Given the description of an element on the screen output the (x, y) to click on. 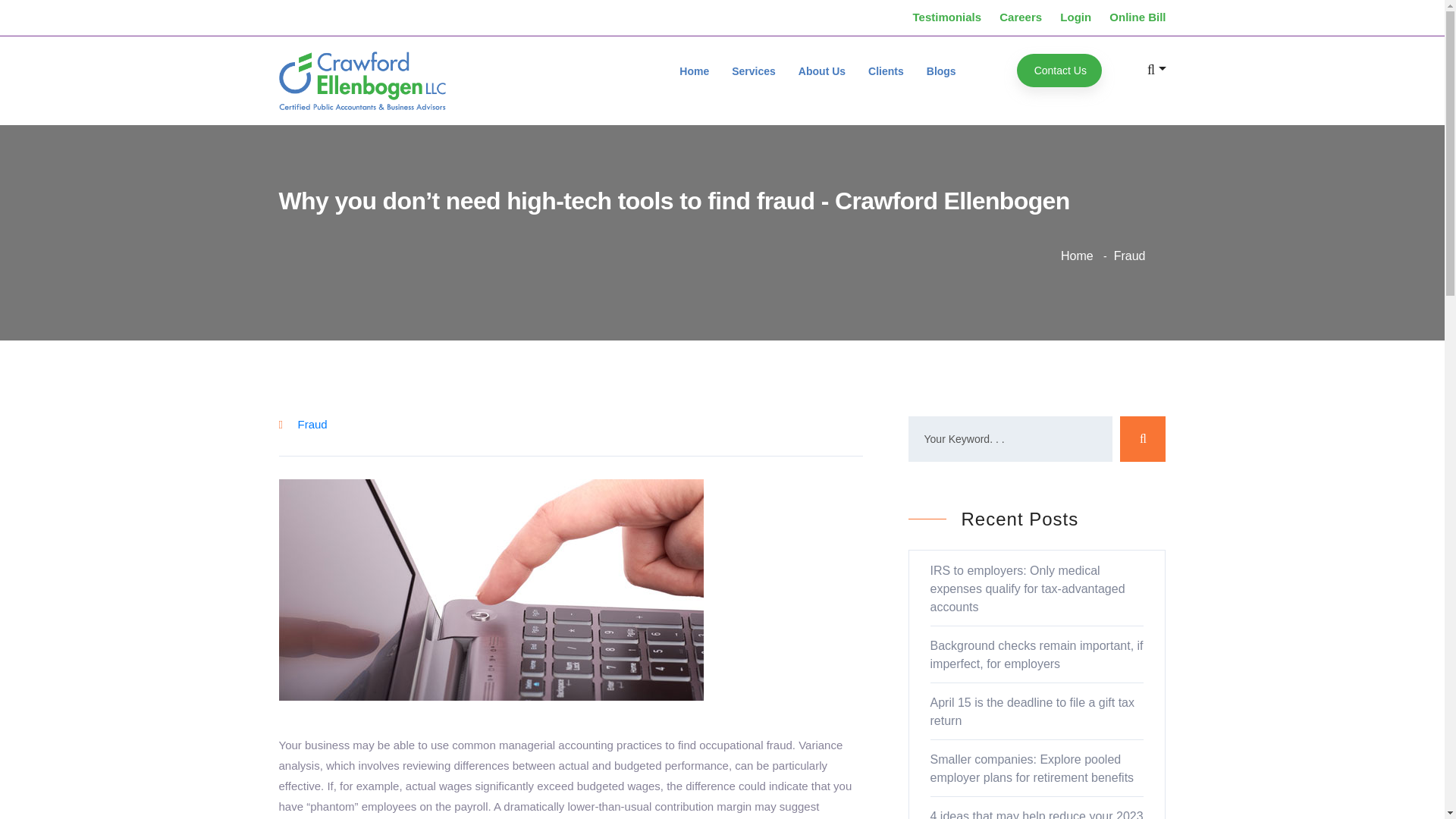
Home (1077, 255)
Online Bill (1137, 17)
Home (694, 69)
Services (754, 69)
Fraud (1129, 255)
Services (754, 69)
Blogs (941, 69)
About Us (821, 69)
Testimonials (946, 17)
Clients (885, 69)
Blogs (941, 69)
Home (694, 69)
Fraud (311, 423)
Clients (885, 69)
Logo (362, 80)
